Given the description of an element on the screen output the (x, y) to click on. 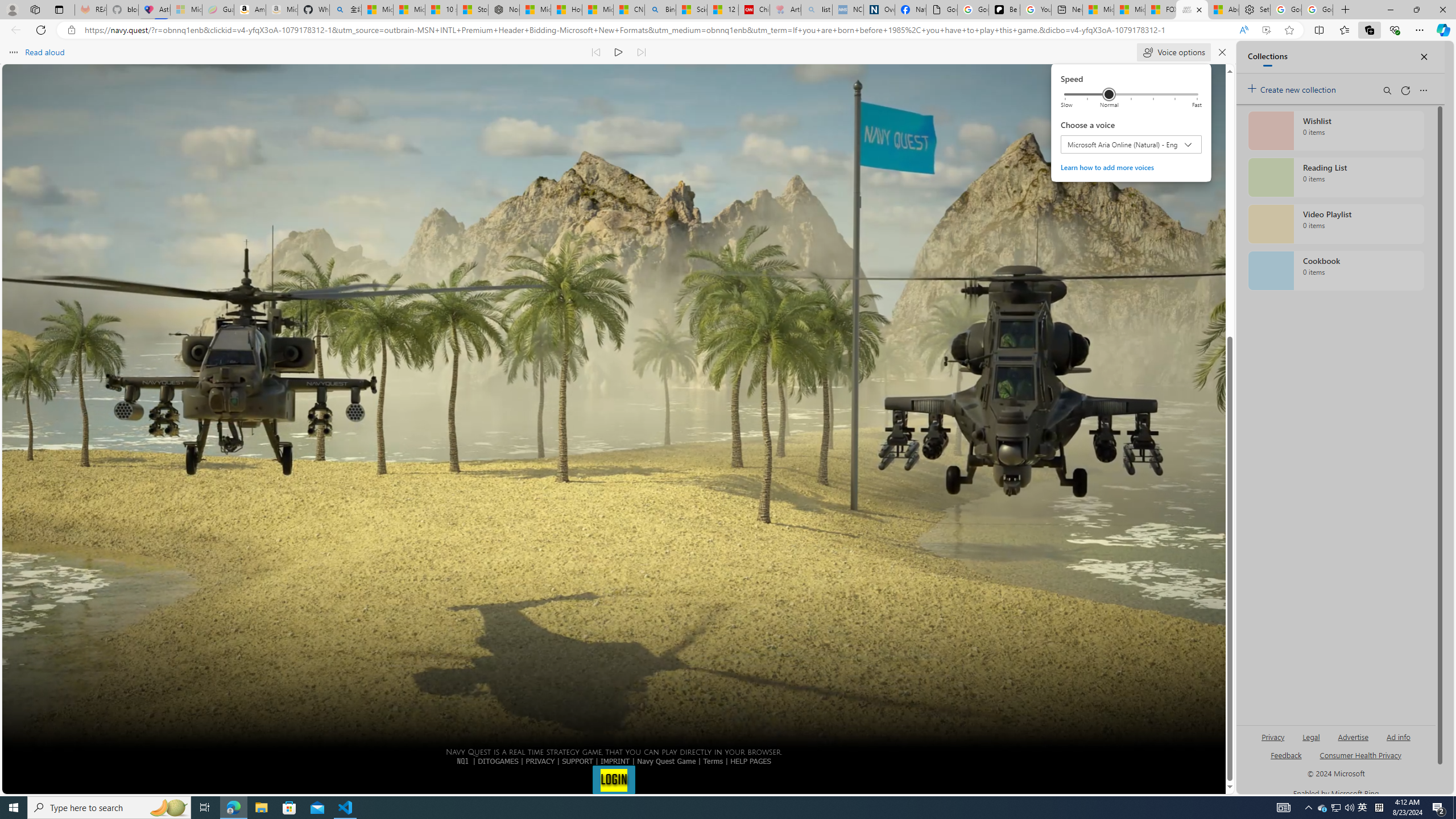
Search highlights icon opens search home window (167, 807)
Google Analytics Opt-out Browser Add-on Download Page (941, 9)
Science - MSN (1362, 807)
Be Smart | creating Science videos | Patreon (691, 9)
Close read aloud (1004, 9)
Terms (1243, 29)
Task View (713, 760)
AutomationID: sb_feedback (204, 807)
